Given the description of an element on the screen output the (x, y) to click on. 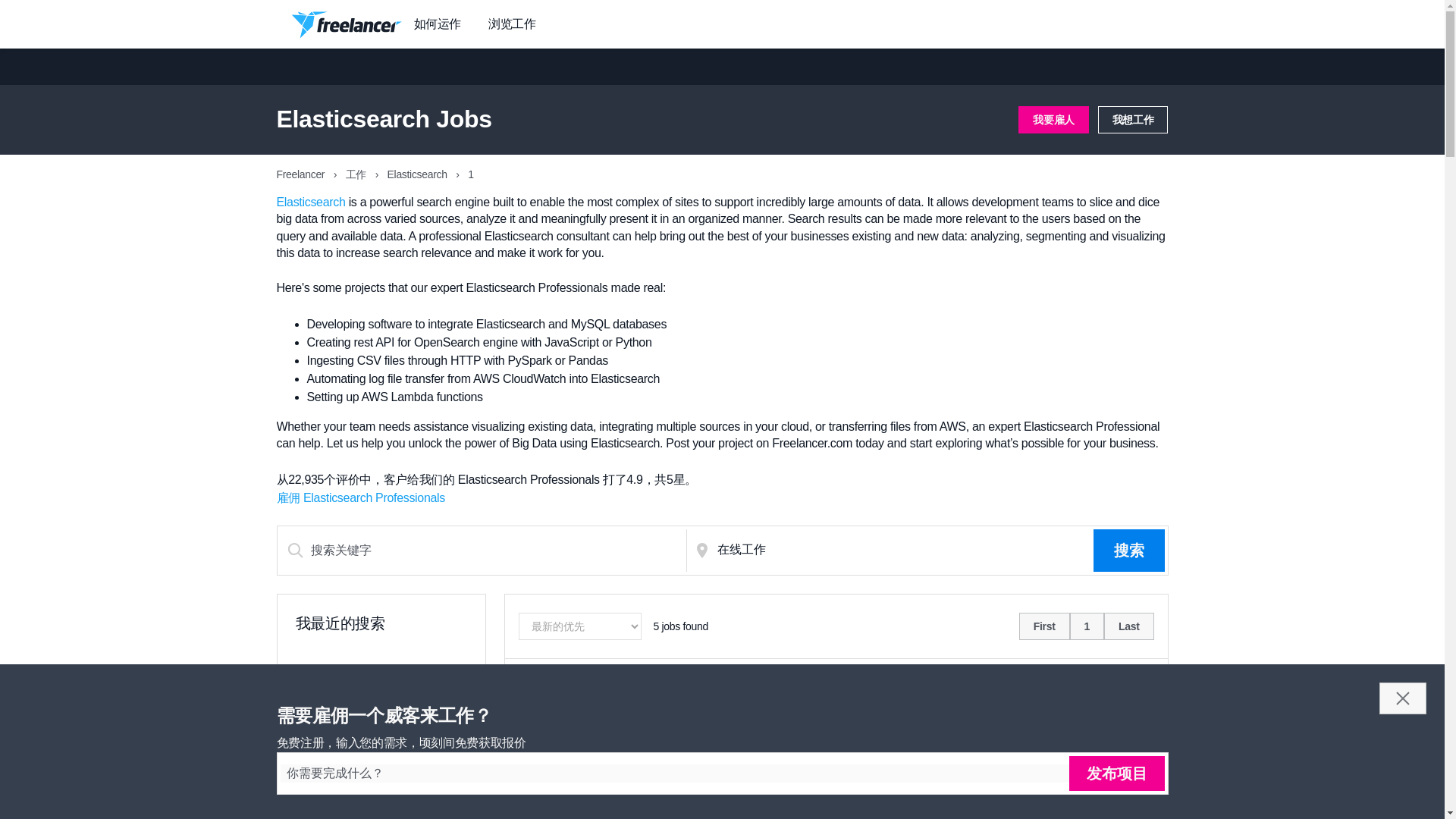
Elasticsearch (418, 174)
Django (538, 811)
Last (1128, 625)
Elasticsearch (594, 811)
Python (770, 811)
Elasticsearch (310, 201)
1 (1086, 625)
Freelancer (301, 174)
First (1044, 625)
